Given the description of an element on the screen output the (x, y) to click on. 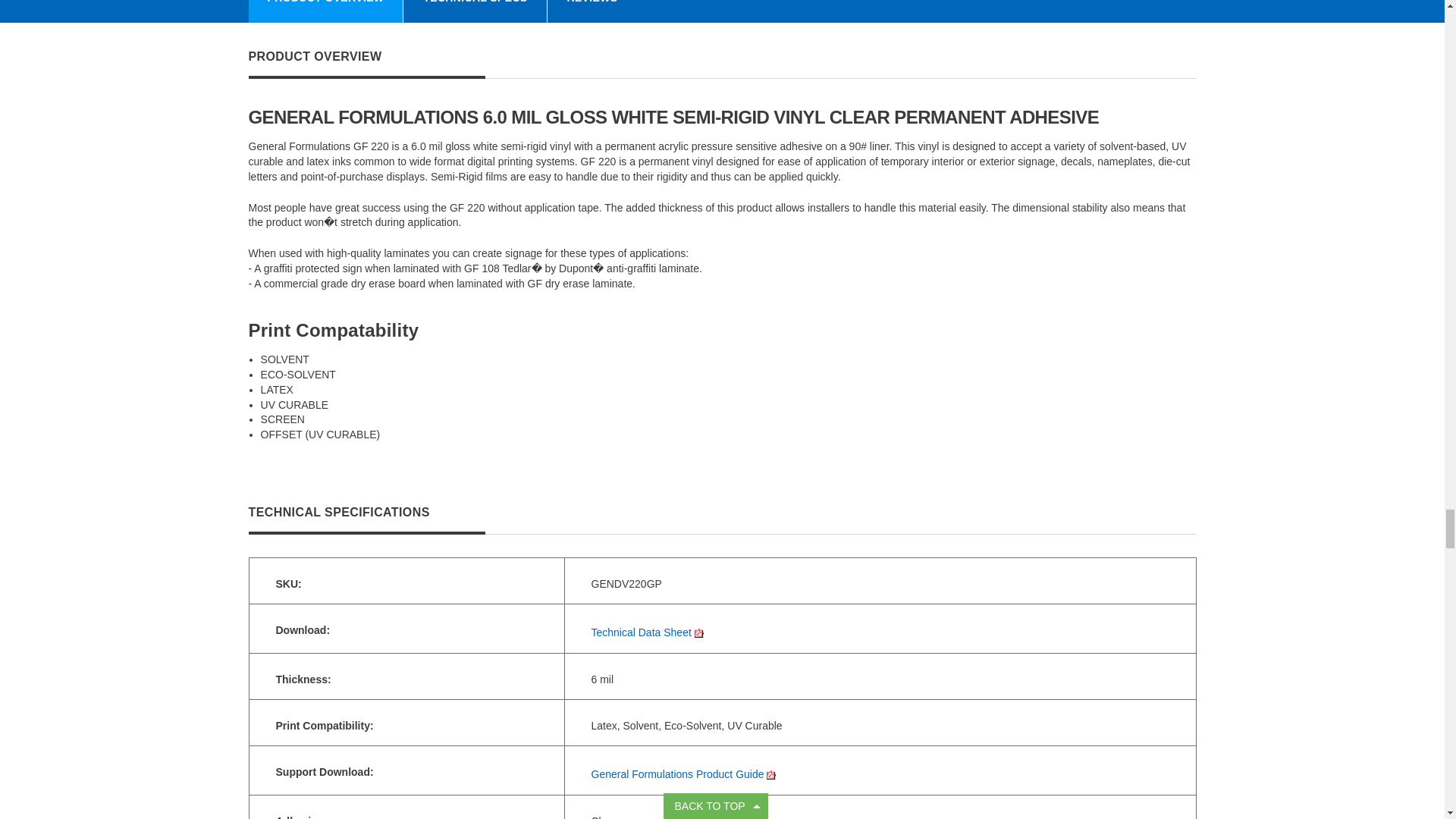
TECHNICAL SPECS (475, 11)
PRODUCT OVERVIEW (325, 11)
REVIEWS (591, 11)
